Given the description of an element on the screen output the (x, y) to click on. 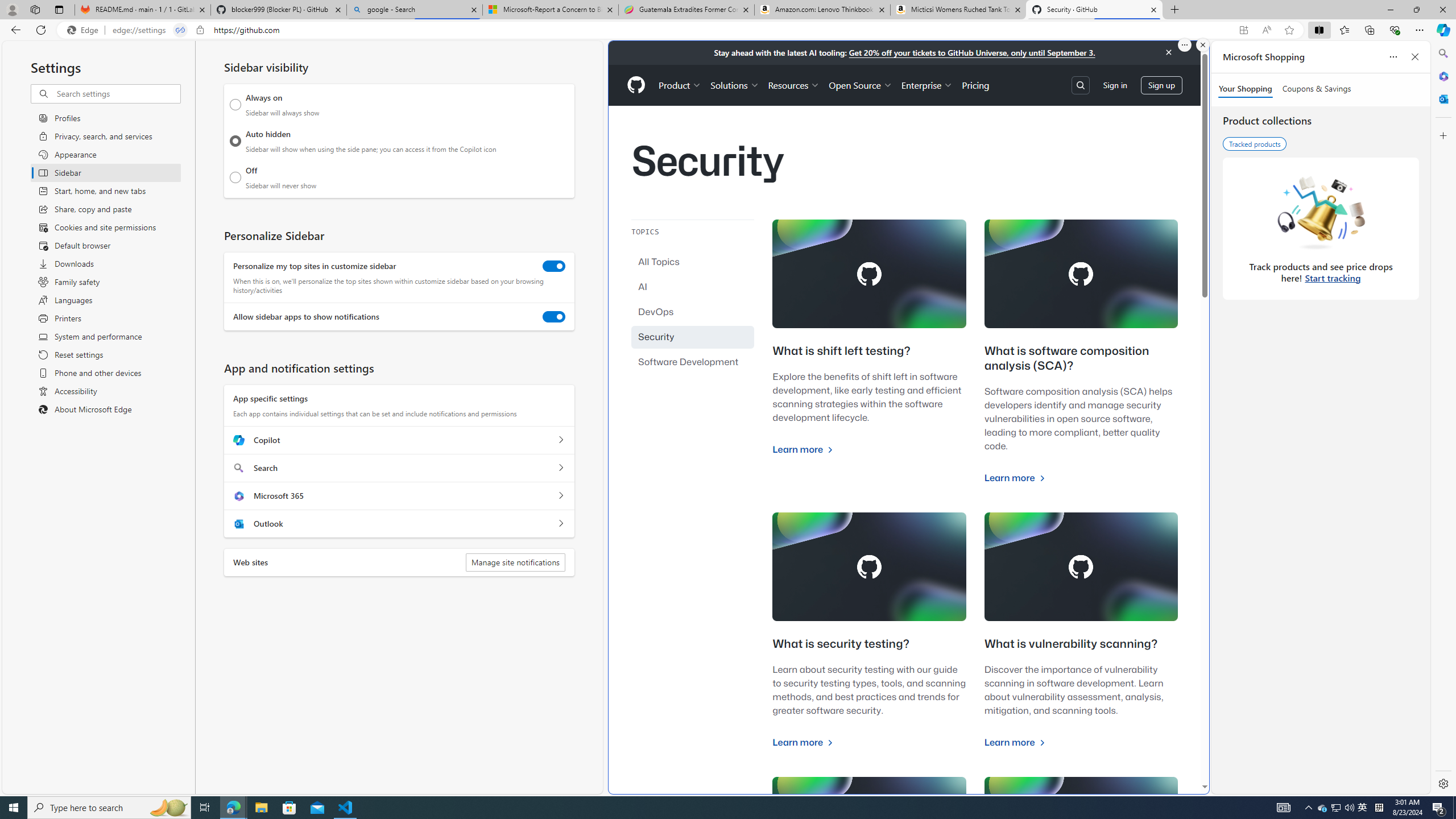
What is vulnerability scanning? (1070, 644)
Off Sidebar will never show (235, 177)
More options. (1183, 45)
All Topics (692, 261)
Solutions (735, 84)
